Given the description of an element on the screen output the (x, y) to click on. 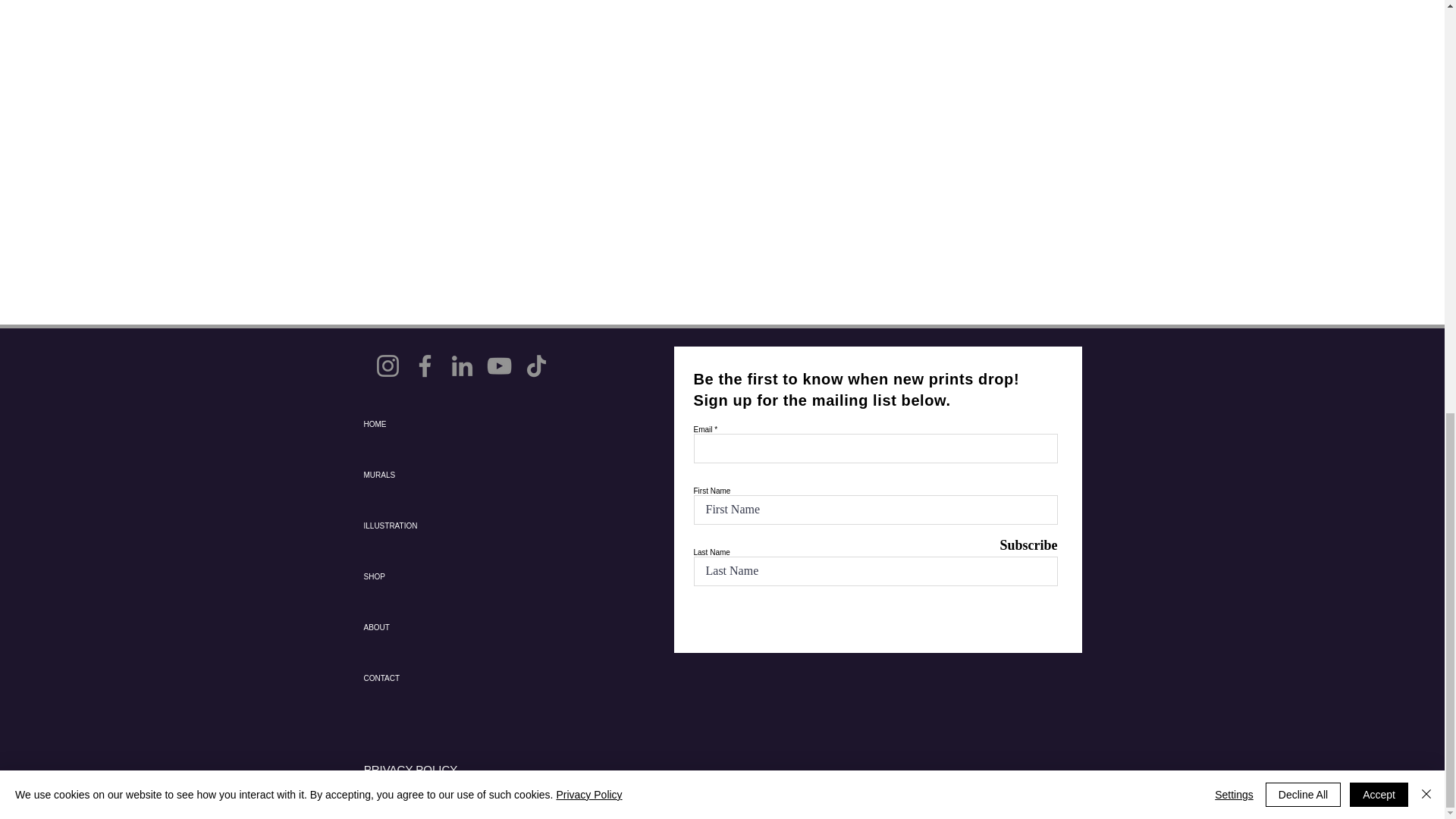
PRIVACY POLICY (410, 769)
ABOUT (417, 626)
SHOP (417, 576)
CONTACT (417, 677)
ILLUSTRATION (417, 525)
Subscribe (1019, 546)
HOME (417, 423)
MURALS (417, 474)
